Given the description of an element on the screen output the (x, y) to click on. 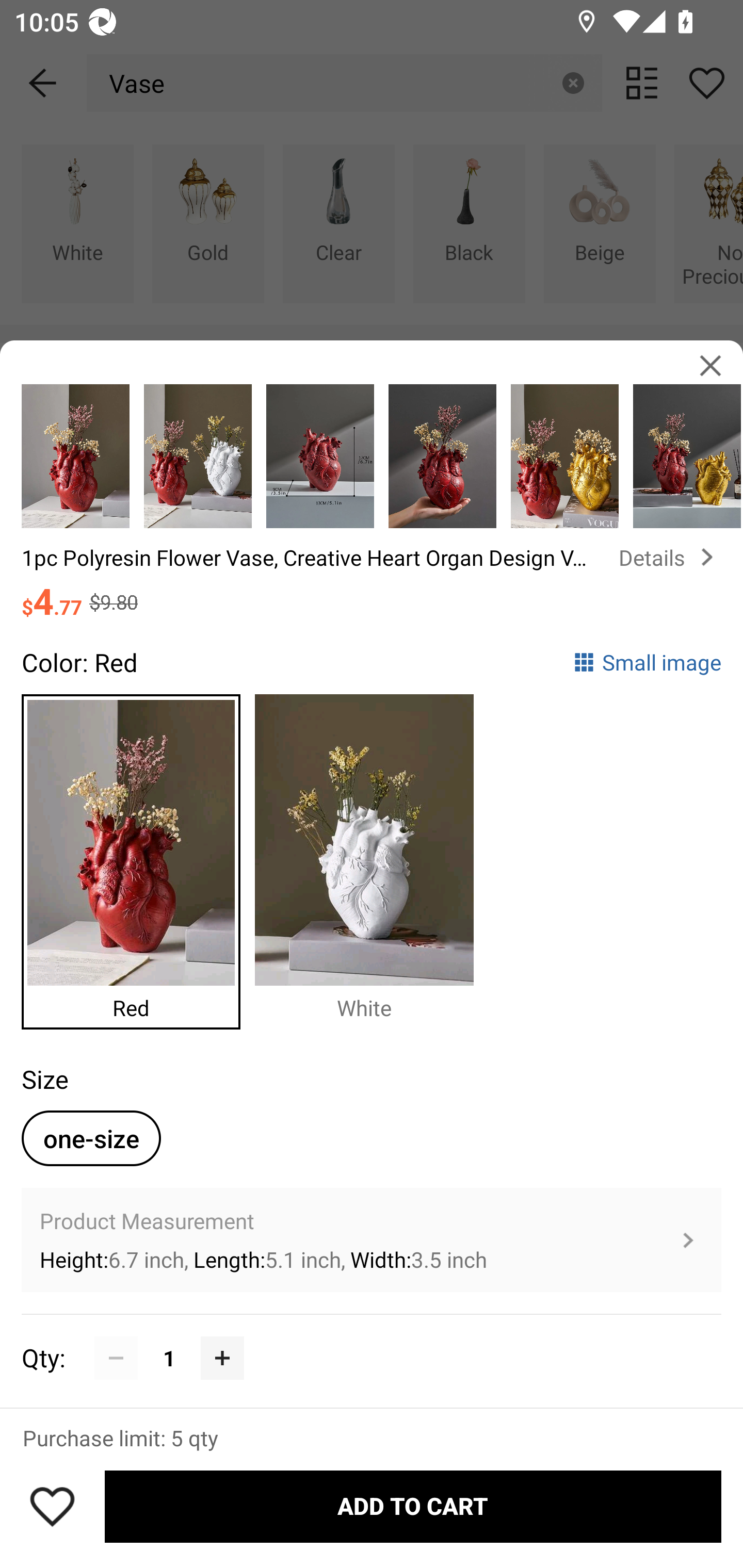
Details (669, 557)
Color: Red (79, 662)
Small image (647, 662)
Red (137, 857)
White (371, 857)
Size (44, 1078)
one-size one-sizeselected option (91, 1138)
ADD TO CART (412, 1506)
Save (52, 1505)
